Given the description of an element on the screen output the (x, y) to click on. 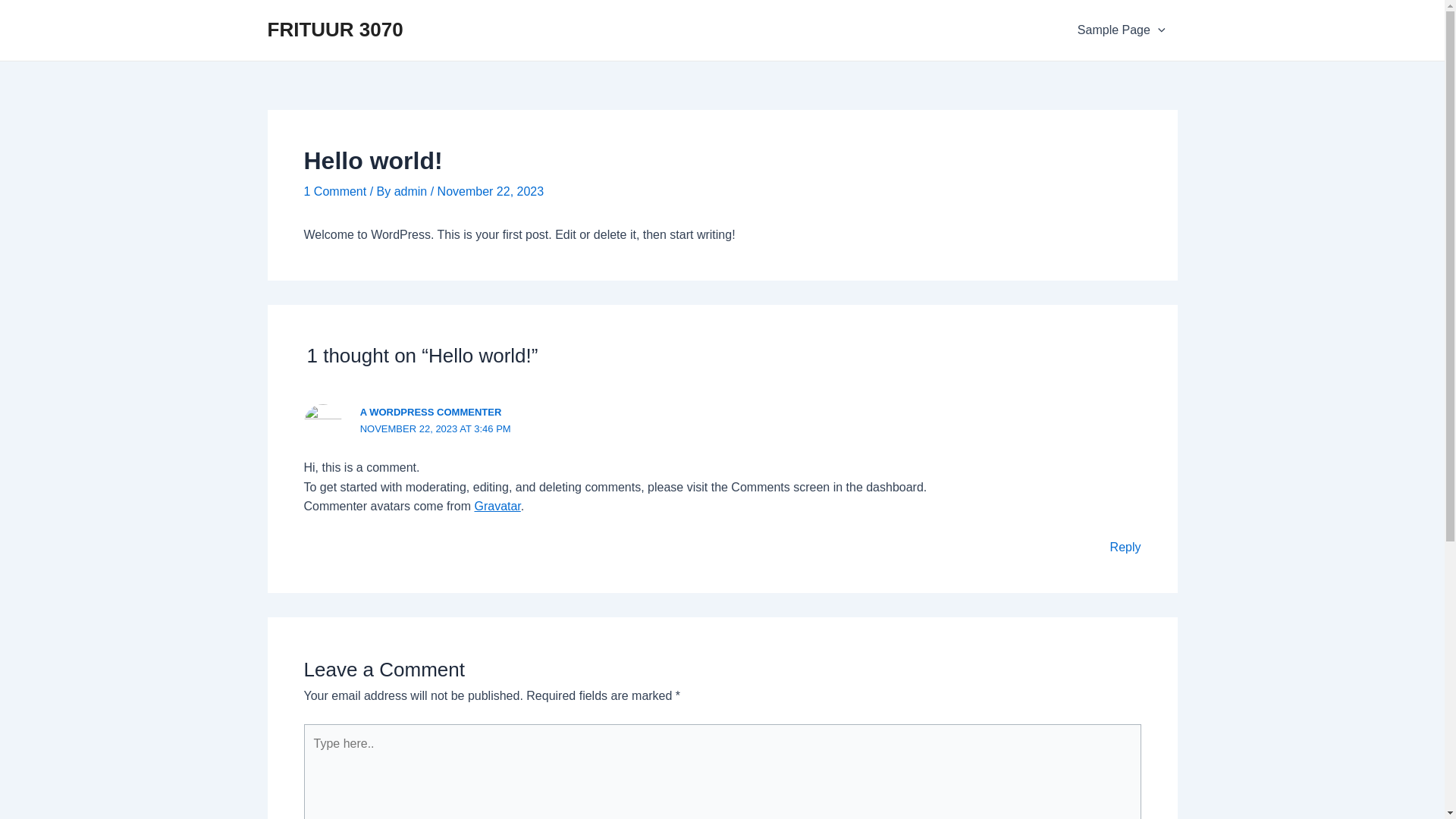
FRITUUR 3070 Element type: text (334, 29)
admin Element type: text (412, 191)
Gravatar Element type: text (496, 505)
NOVEMBER 22, 2023 AT 3:46 PM Element type: text (435, 428)
Reply Element type: text (1125, 546)
Sample Page Element type: text (1121, 30)
1 Comment Element type: text (334, 191)
A WORDPRESS COMMENTER Element type: text (431, 411)
